Given the description of an element on the screen output the (x, y) to click on. 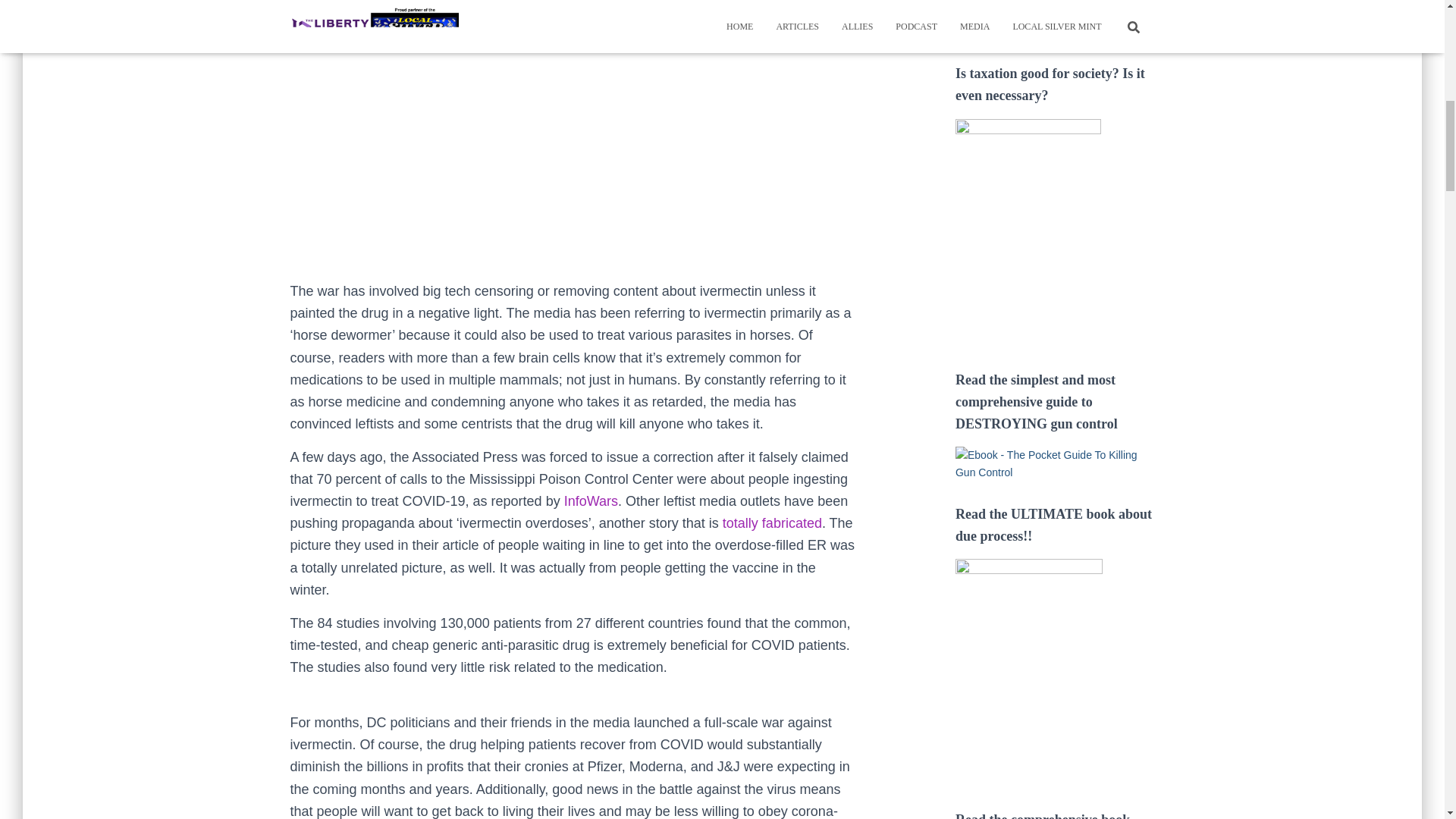
InfoWars (590, 500)
totally fabricated (772, 522)
Can America be saved? (1054, 463)
